Given the description of an element on the screen output the (x, y) to click on. 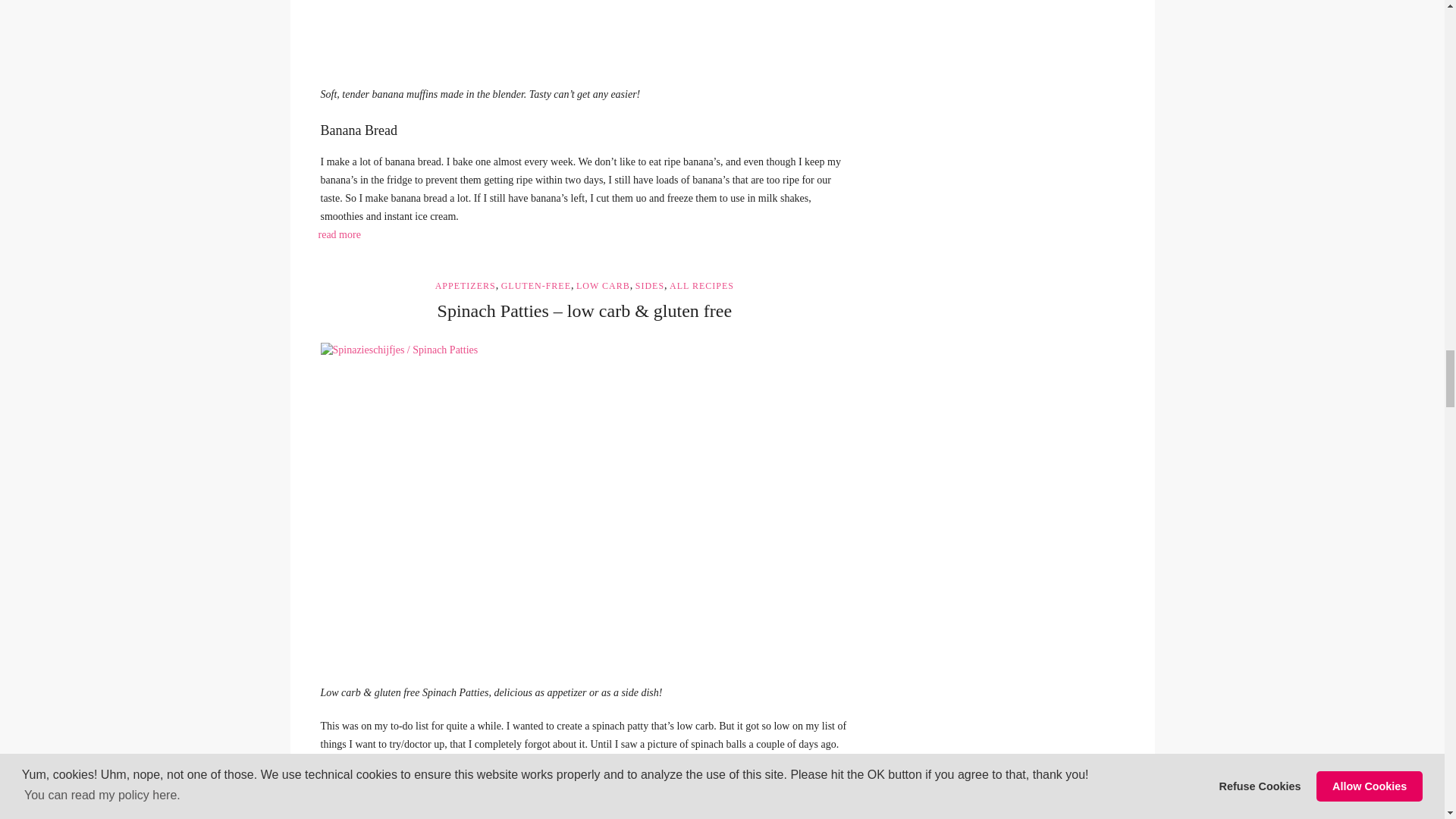
Easy Blender Banana Muffins (584, 32)
